Given the description of an element on the screen output the (x, y) to click on. 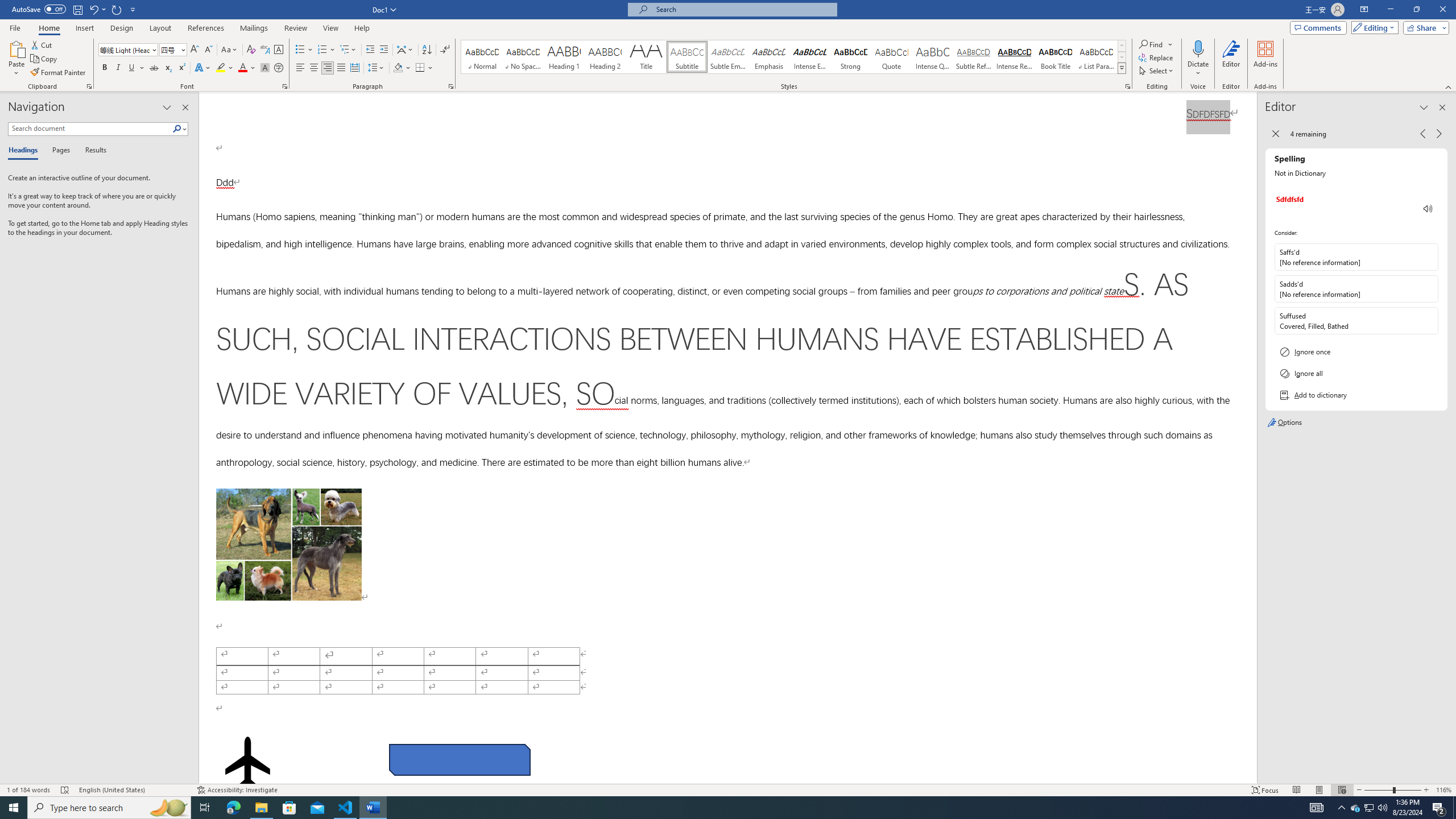
Undo Paragraph Alignment (96, 9)
Enclose Characters... (278, 67)
Office Clipboard... (88, 85)
Pages (59, 150)
Phonetic Guide... (264, 49)
Back (1275, 133)
Insert (83, 28)
Find (1151, 44)
Font Color Red (241, 67)
References (205, 28)
